Given the description of an element on the screen output the (x, y) to click on. 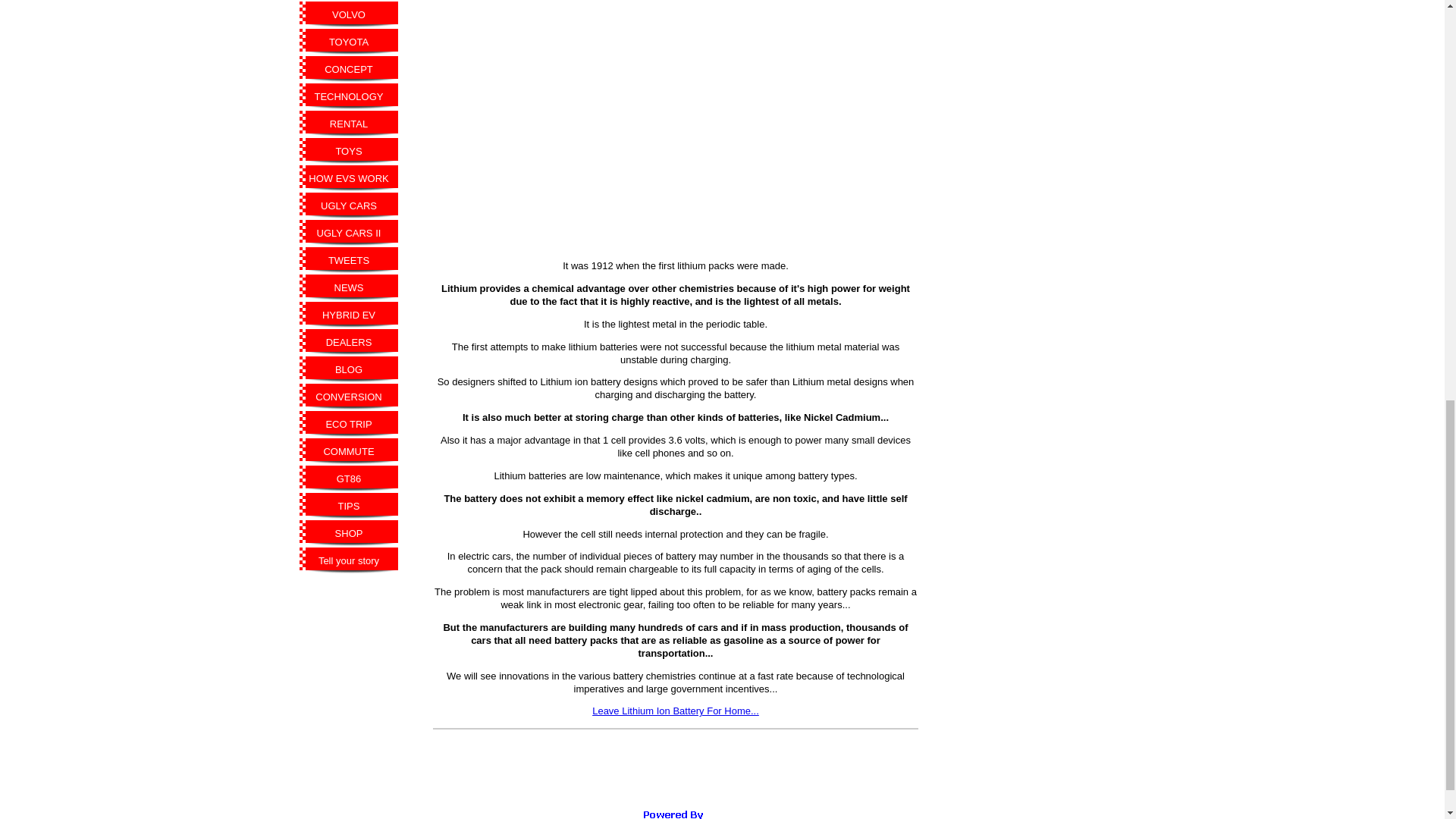
DEALERS (348, 342)
UGLY CARS (348, 206)
BLOG (348, 370)
VOLVO (348, 14)
VOLT (348, 0)
Leave Lithium Ion Battery For Home... (675, 710)
RENTAL (348, 124)
CONCEPT (348, 69)
HOW EVS WORK (348, 178)
TOYS (348, 151)
